Given the description of an element on the screen output the (x, y) to click on. 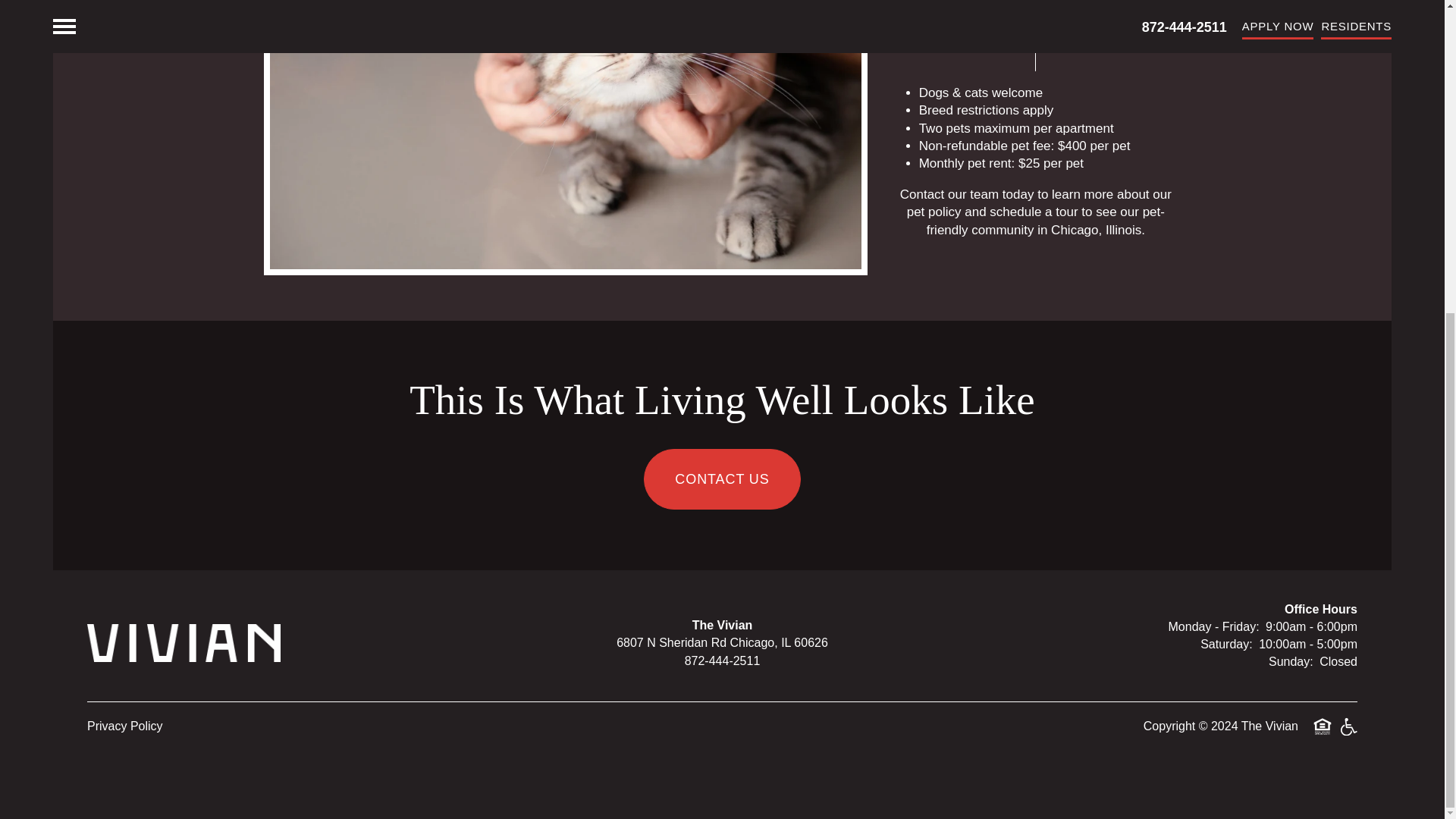
CONTACT US (721, 478)
Property Phone Number (722, 660)
872-444-2511 (722, 660)
6807 N Sheridan Rd Chicago, IL 60626 (722, 642)
Privacy Policy (125, 726)
Equal Opportunity Housing (1322, 726)
Handicap Friendly (1347, 726)
